Given the description of an element on the screen output the (x, y) to click on. 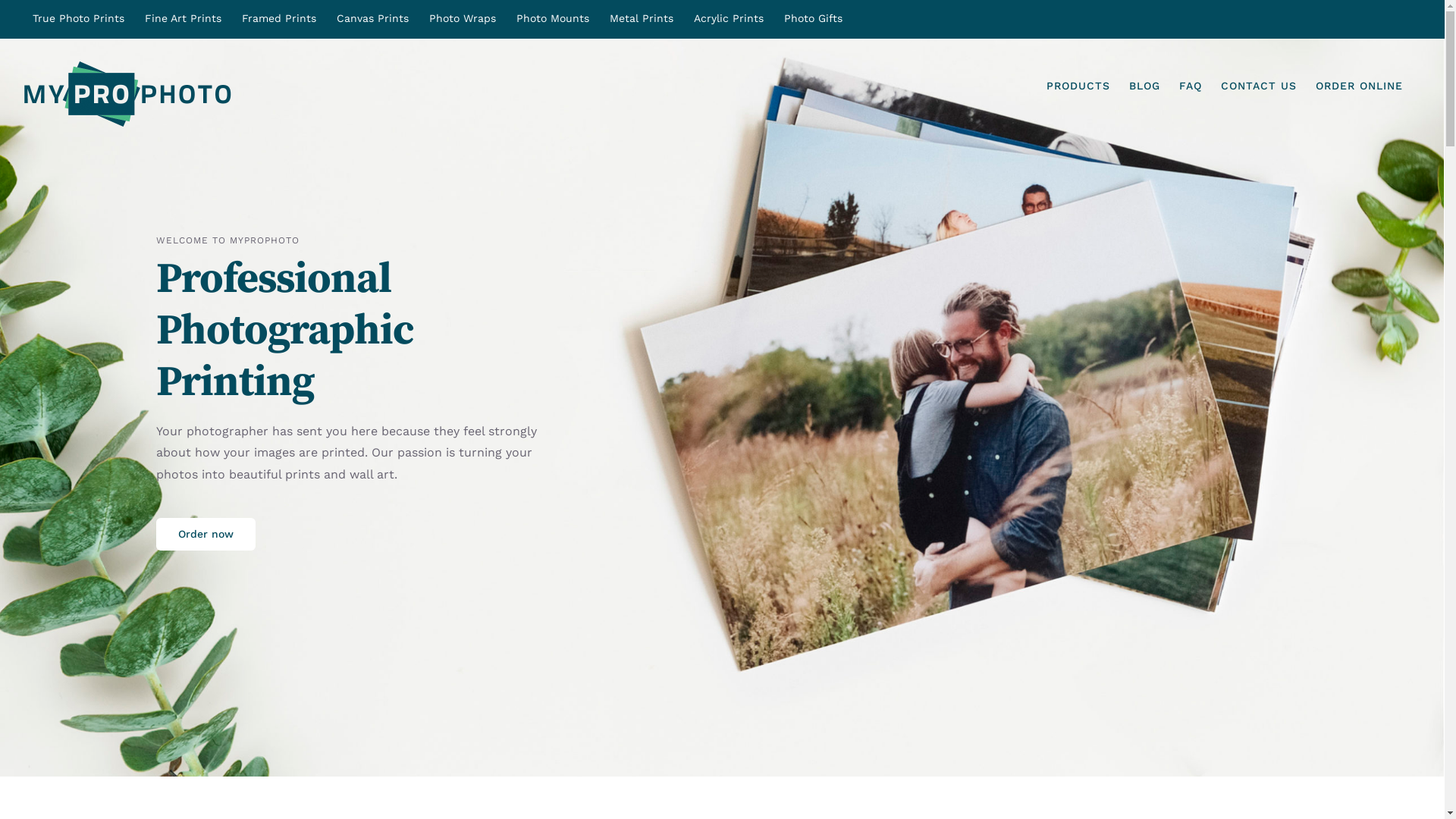
Canvas Prints Element type: text (372, 18)
ORDER ONLINE Element type: text (1358, 85)
Photo Gifts Element type: text (813, 18)
Framed Prints Element type: text (279, 18)
Metal Prints Element type: text (641, 18)
Fine Art Prints Element type: text (182, 18)
FAQ Element type: text (1190, 85)
Order now Element type: text (205, 533)
Acrylic Prints Element type: text (728, 18)
PRODUCTS Element type: text (1078, 85)
Photo Mounts Element type: text (552, 18)
True Photo Prints Element type: text (78, 18)
BLOG Element type: text (1144, 85)
Photo Wraps Element type: text (462, 18)
CONTACT US Element type: text (1258, 85)
